Given the description of an element on the screen output the (x, y) to click on. 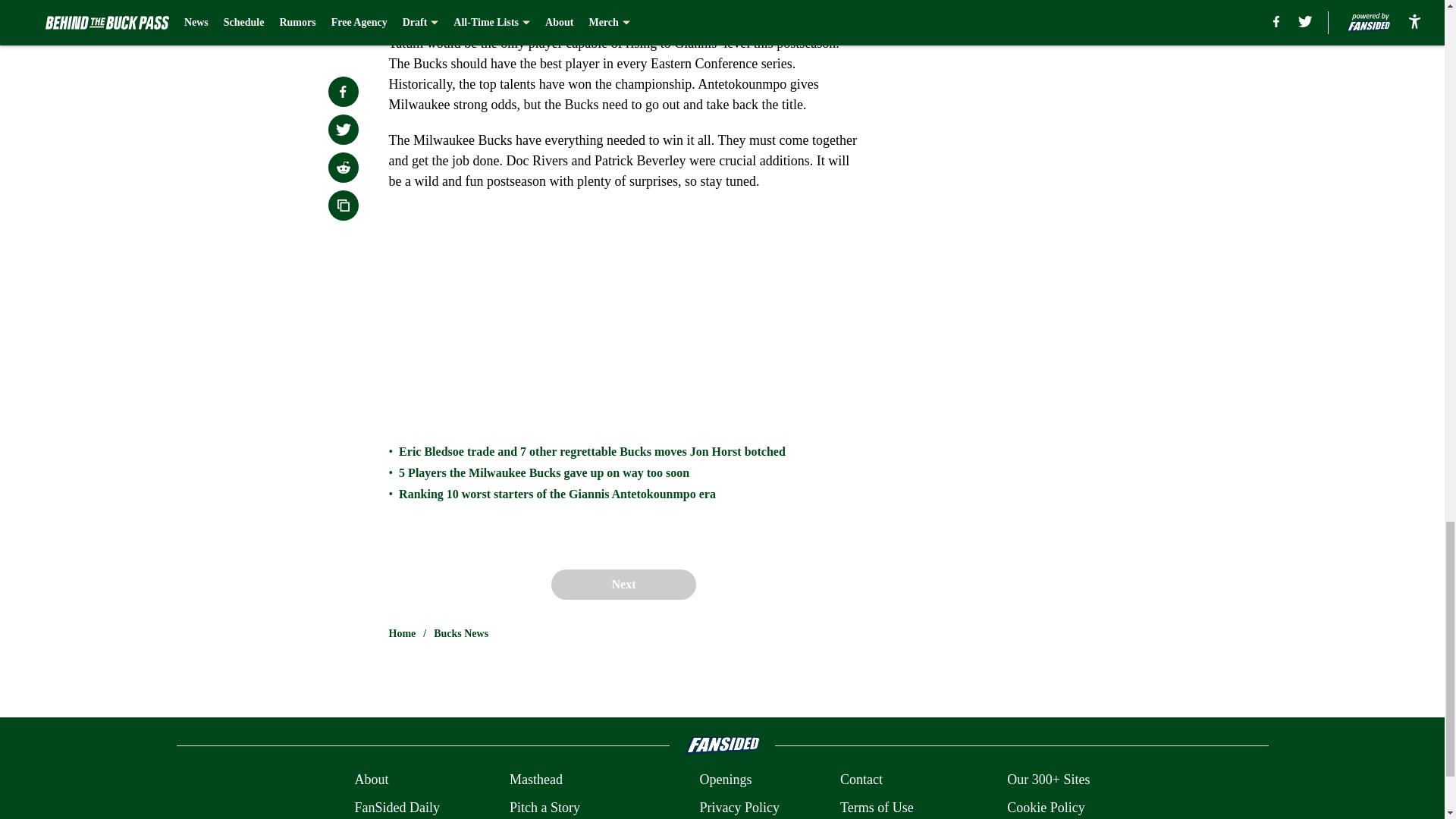
Next (622, 584)
Ranking 10 worst starters of the Giannis Antetokounmpo era (557, 494)
5 Players the Milwaukee Bucks gave up on way too soon (543, 472)
